Given the description of an element on the screen output the (x, y) to click on. 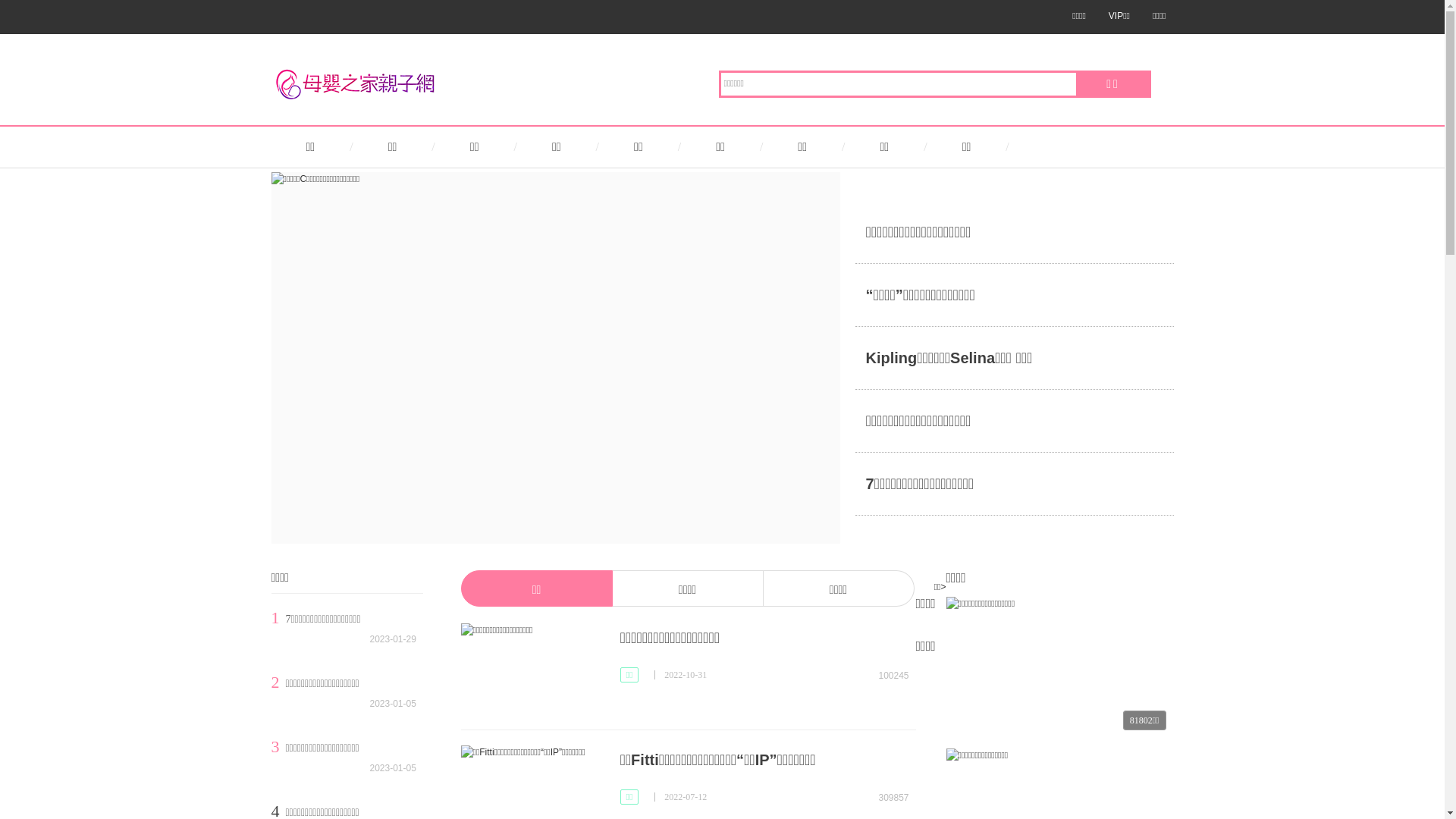
309857 Element type: text (886, 795)
2023-01-29 Element type: text (396, 639)
  Element type: text (1379, 721)
100245 Element type: text (886, 673)
2023-01-05 Element type: text (396, 704)
2023-01-05 Element type: text (396, 768)
